Given the description of an element on the screen output the (x, y) to click on. 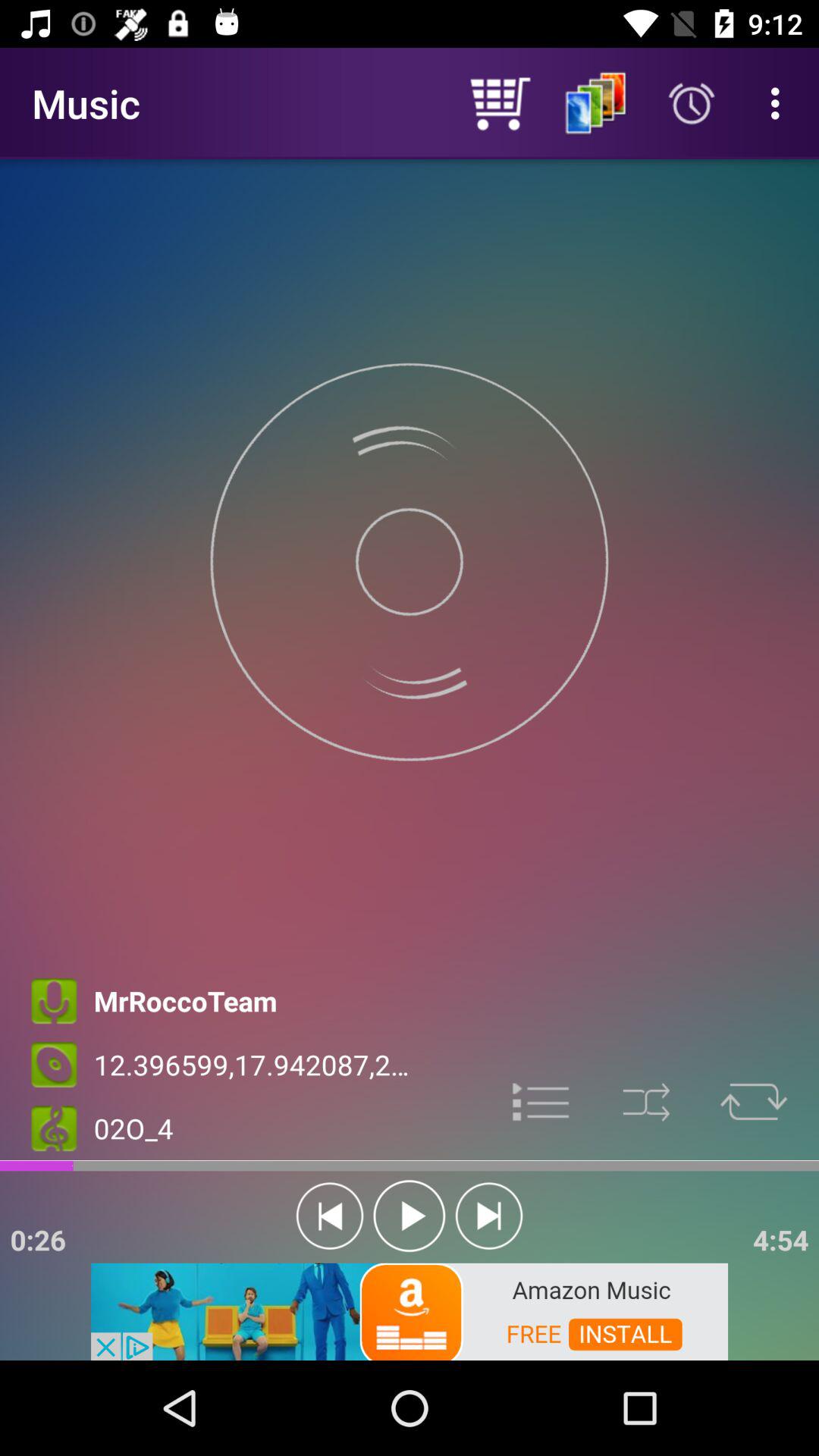
skip to the start (329, 1215)
